Given the description of an element on the screen output the (x, y) to click on. 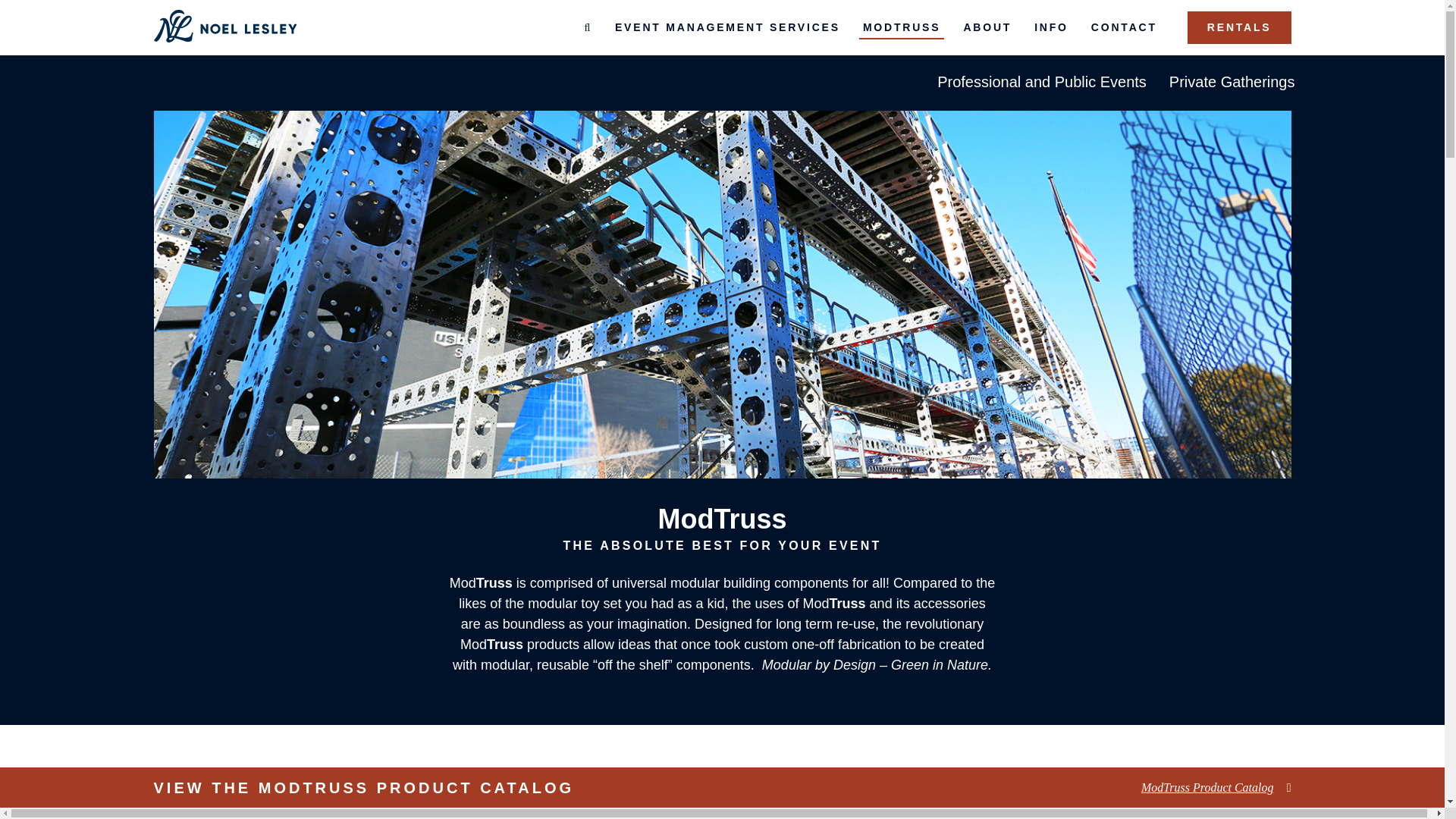
Professional and Public Events (1042, 82)
CONTACT (1123, 27)
MODTRUSS (901, 27)
Private Gatherings (1232, 82)
ModTruss Product Catalog (1216, 787)
ModTruss Product Catalog (1216, 787)
INFO (1050, 27)
RENTALS (1239, 27)
ABOUT (986, 27)
EVENT MANAGEMENT SERVICES (727, 27)
